Given the description of an element on the screen output the (x, y) to click on. 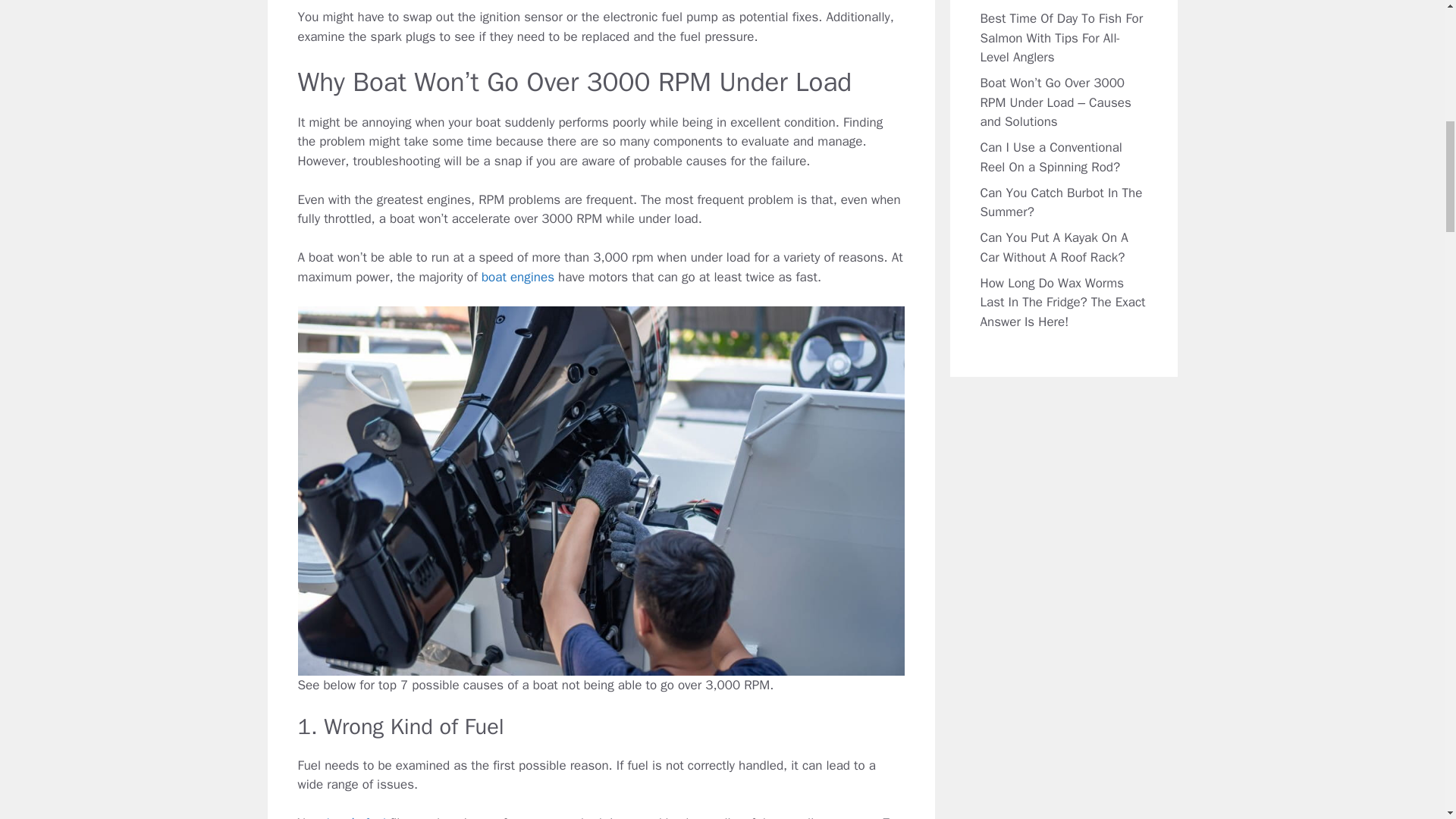
Can You Put A Kayak On A Car Without A Roof Rack? (1052, 247)
Can I Use a Conventional Reel On a Spinning Rod? (1050, 157)
Can You Catch Burbot In The Summer? (1060, 202)
boat engines (517, 277)
